Given the description of an element on the screen output the (x, y) to click on. 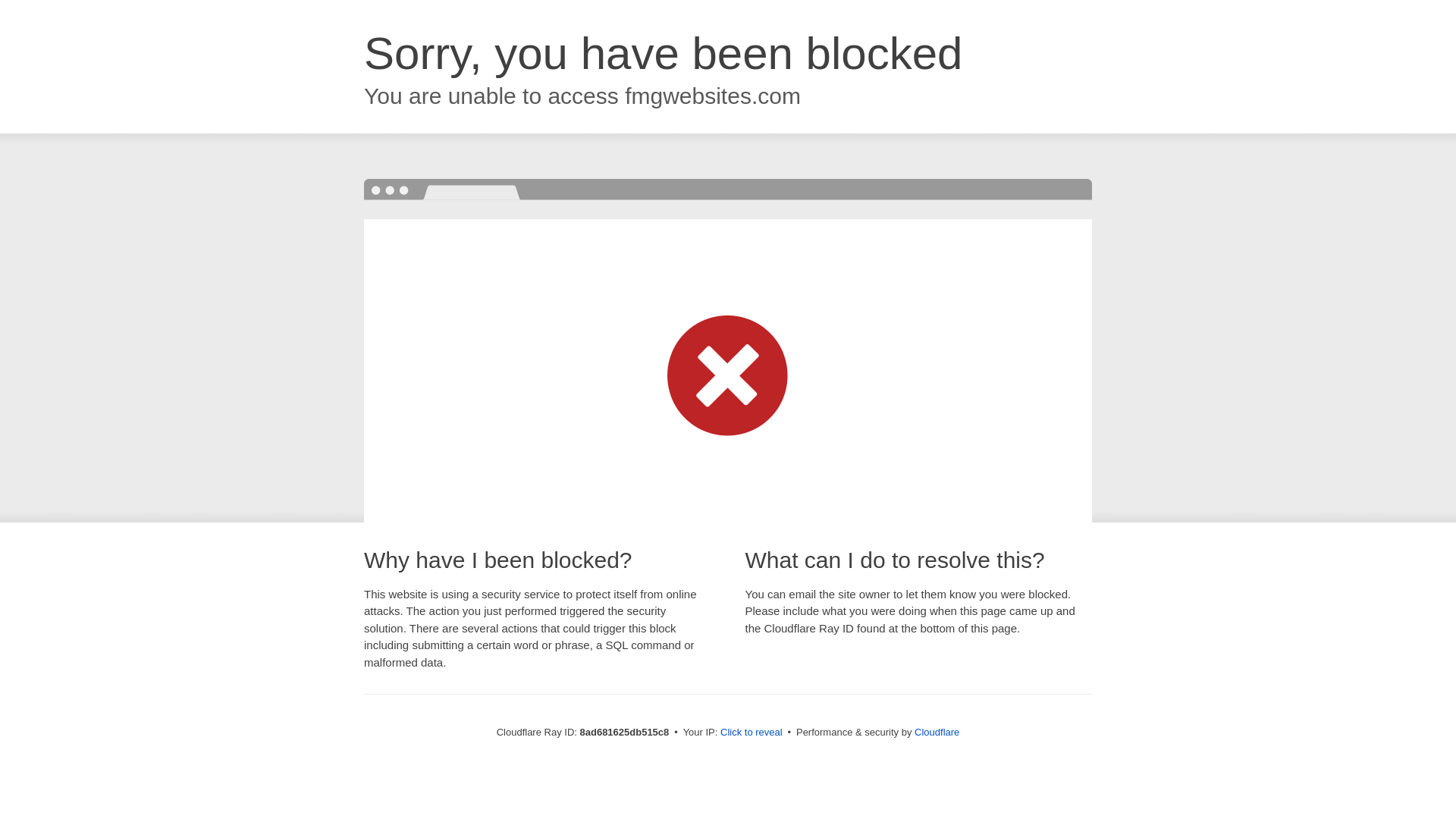
Click to reveal (751, 732)
Cloudflare (936, 731)
